Given the description of an element on the screen output the (x, y) to click on. 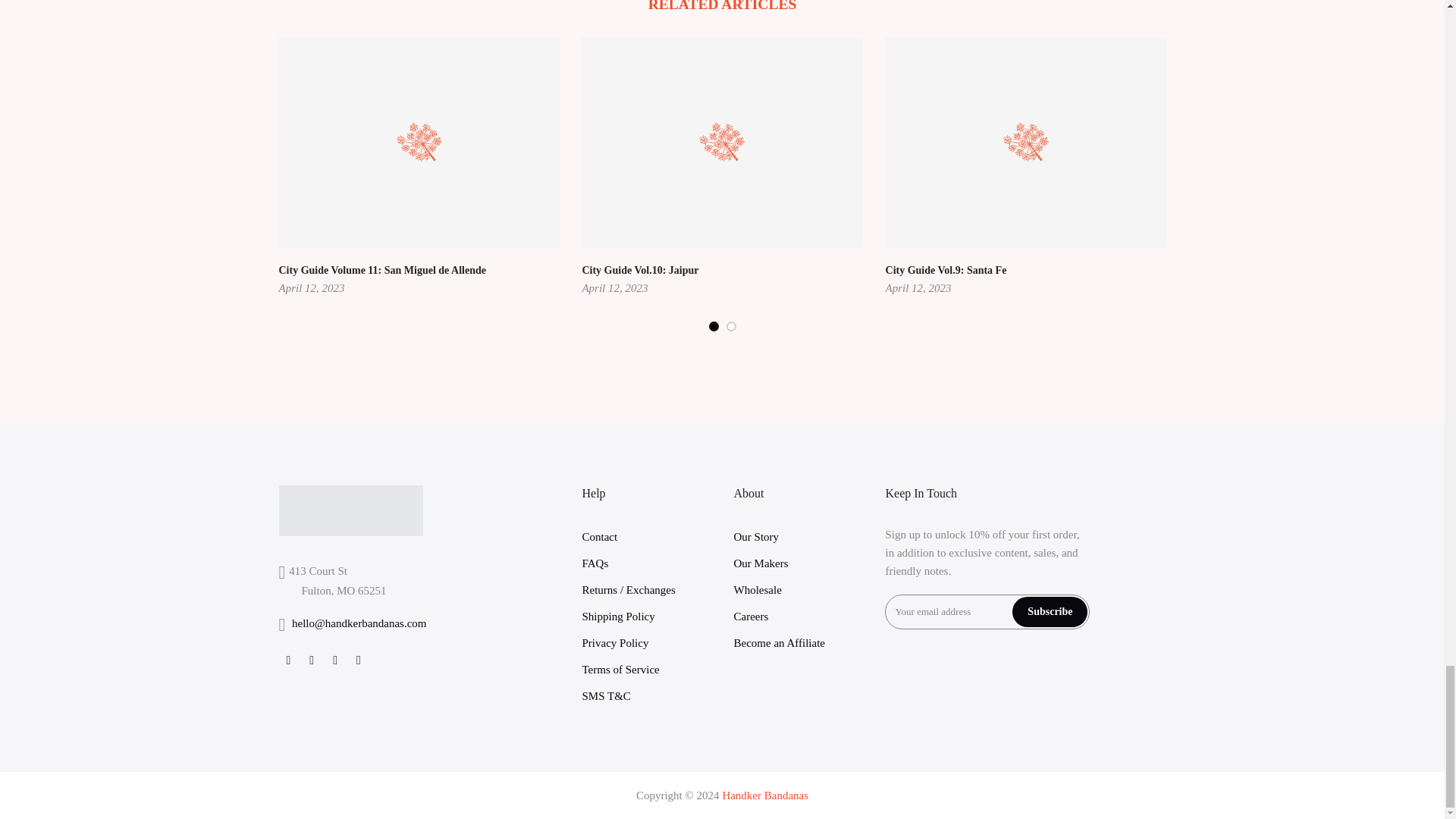
City Guide Vol.10: Jaipur (639, 270)
City Guide Vol.9: Santa Fe (946, 270)
City Guide Volume 11: San Miguel de Allende (382, 270)
